Given the description of an element on the screen output the (x, y) to click on. 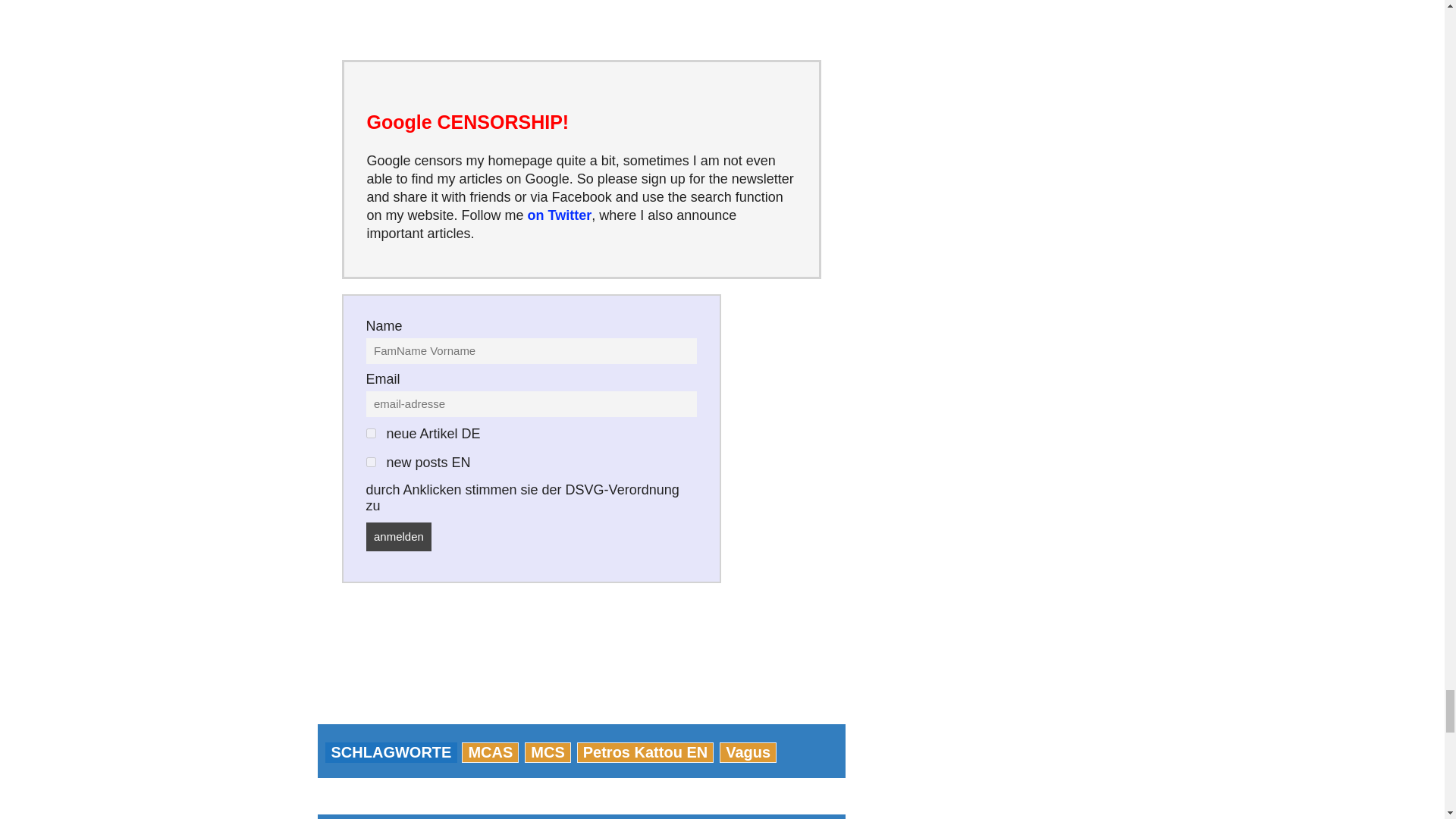
2 (370, 461)
anmelden (397, 536)
1 (370, 433)
